Given the description of an element on the screen output the (x, y) to click on. 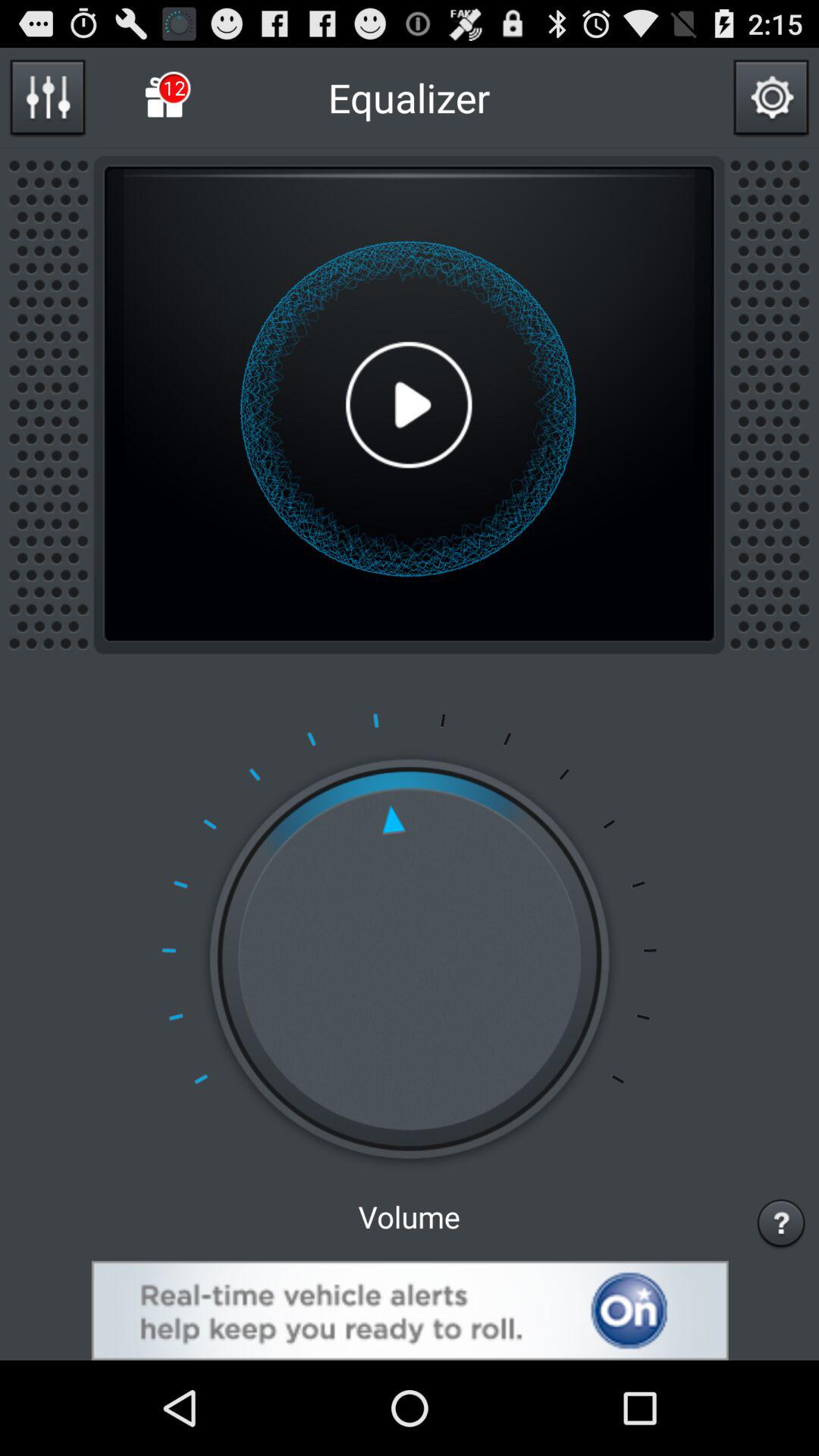
filter (47, 97)
